Given the description of an element on the screen output the (x, y) to click on. 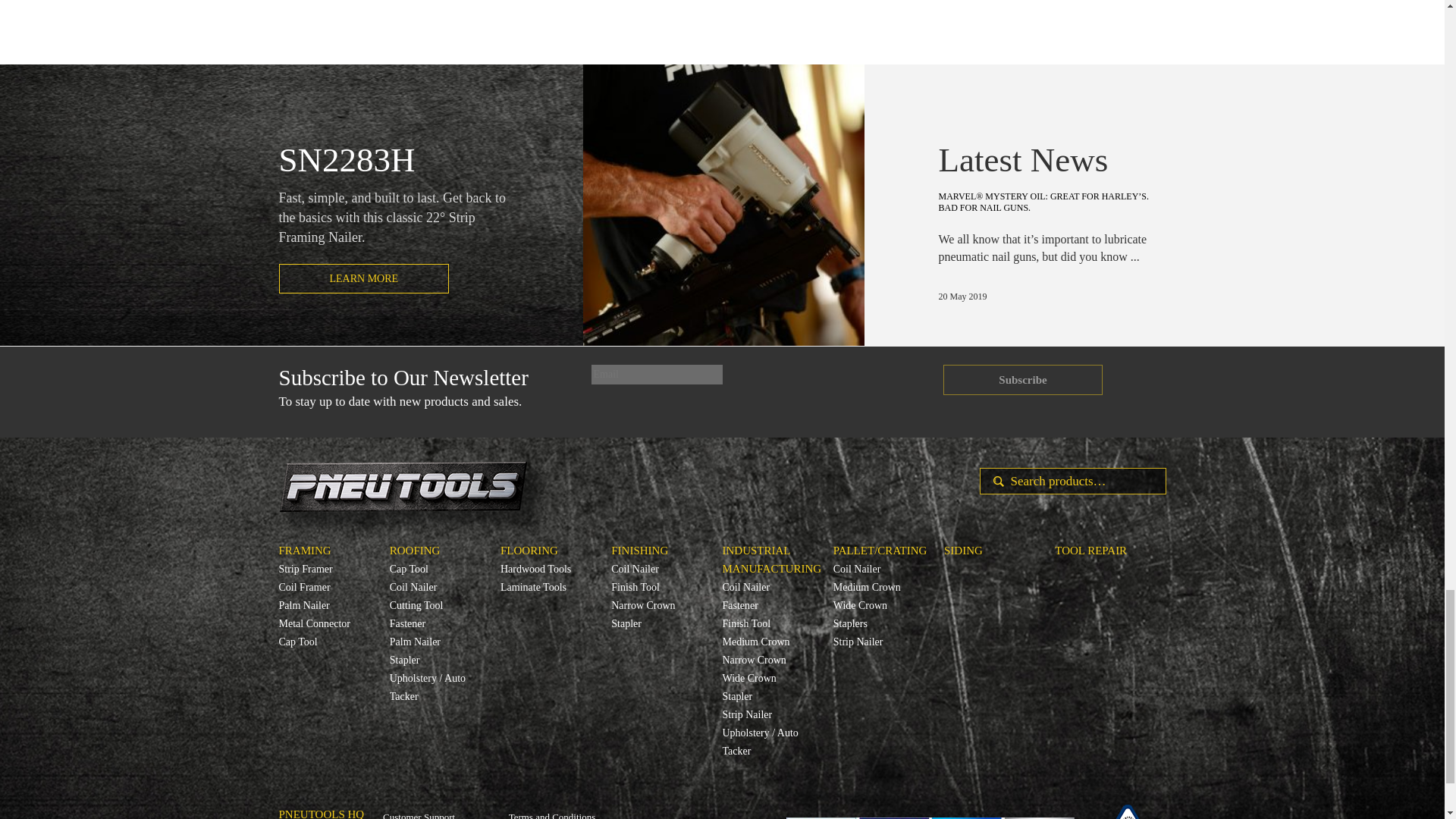
Search (992, 480)
Subscribe (1022, 379)
